Given the description of an element on the screen output the (x, y) to click on. 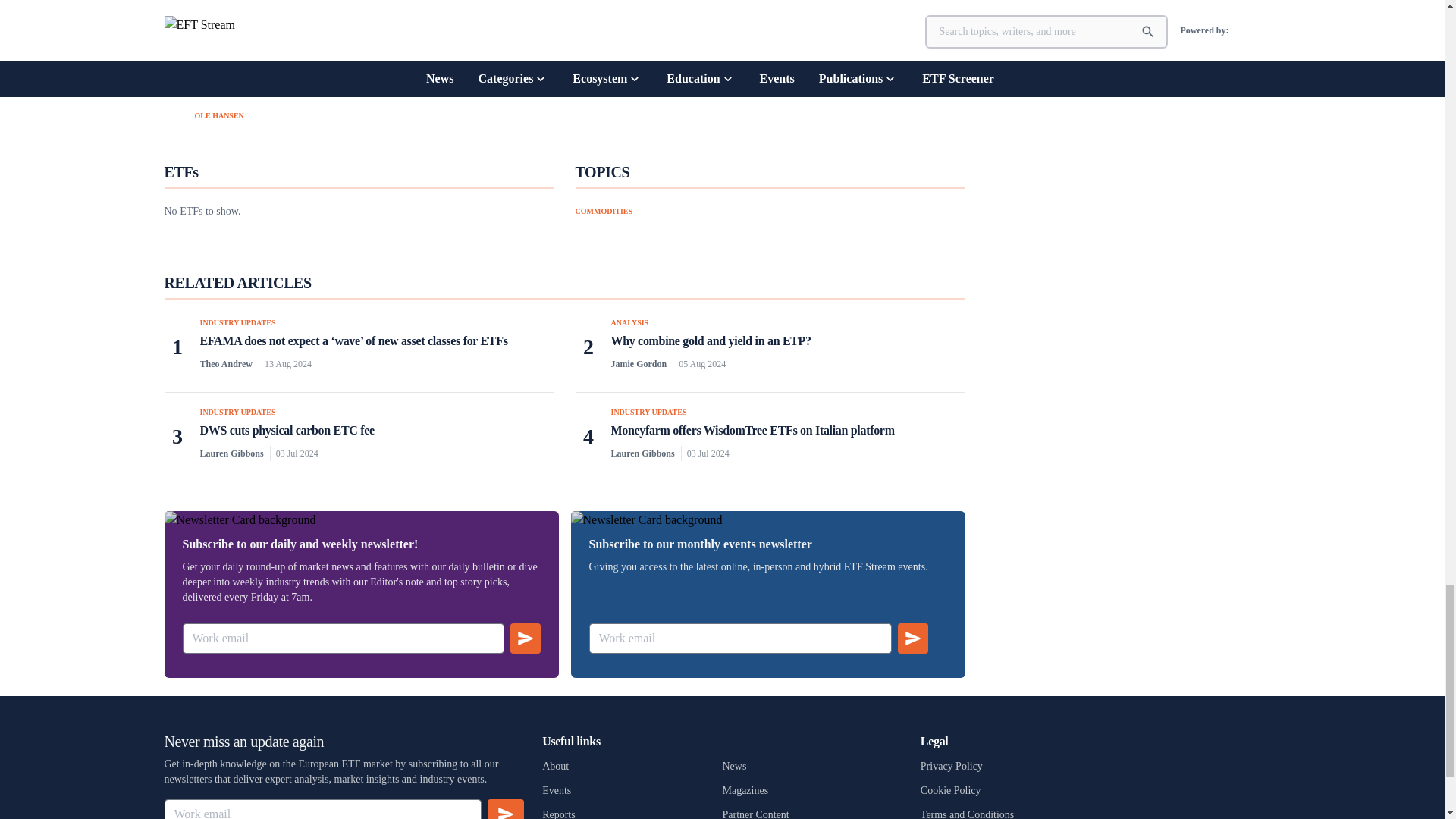
OLE HANSEN (218, 114)
COMMODITIES (603, 211)
